Given the description of an element on the screen output the (x, y) to click on. 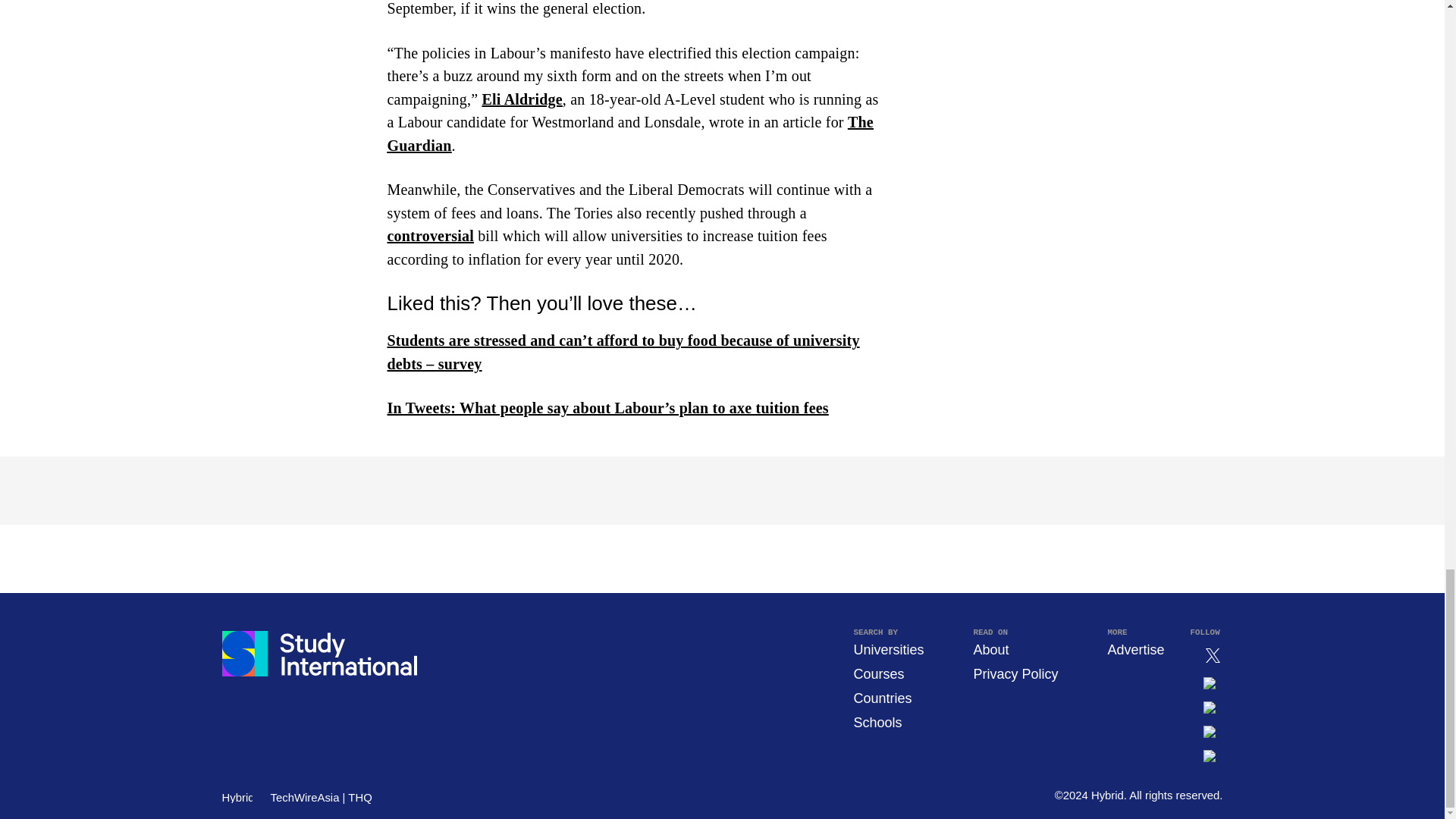
Eli Aldridge (521, 98)
controversial (430, 235)
The Guardian (629, 133)
